Given the description of an element on the screen output the (x, y) to click on. 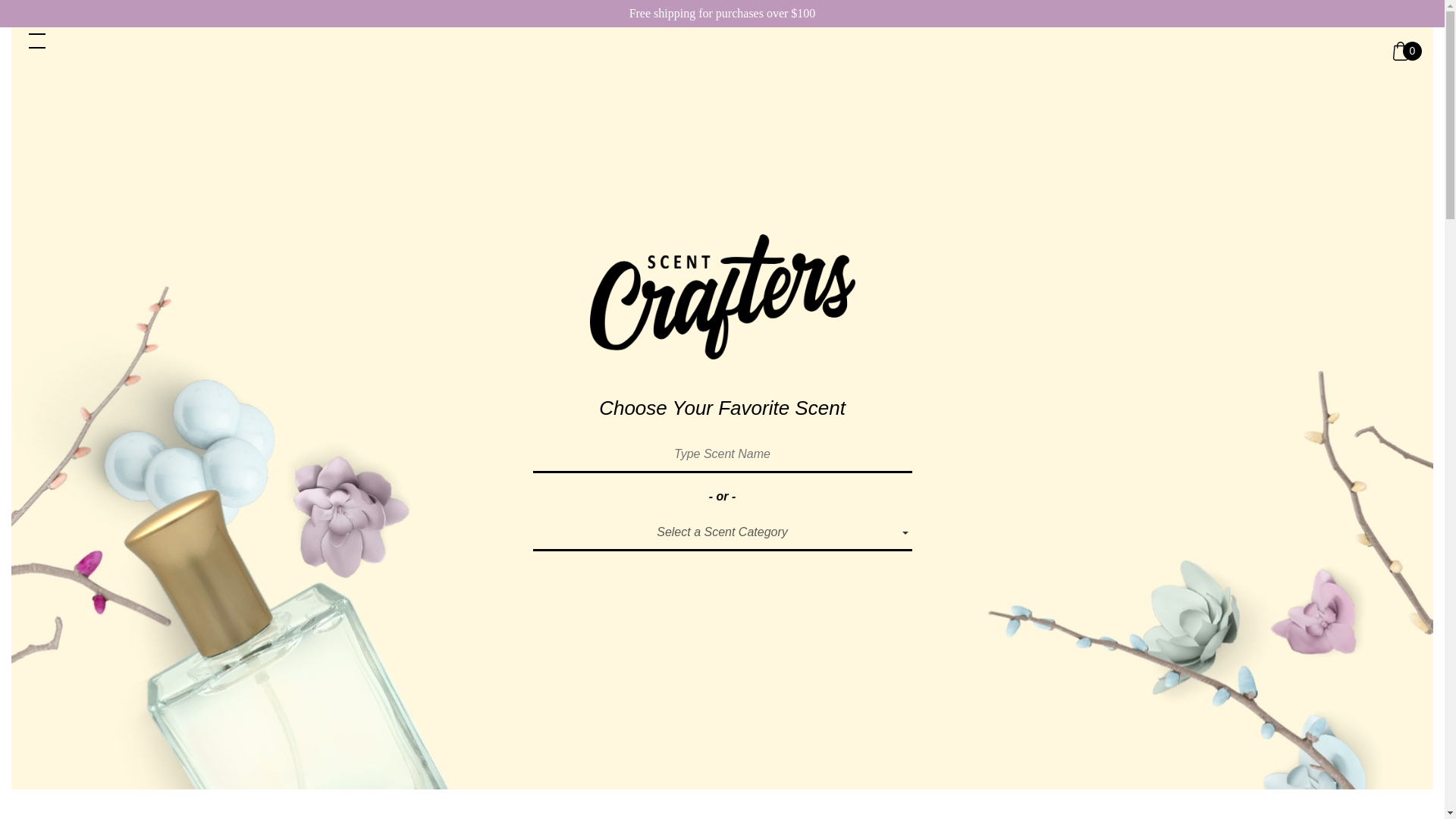
0 (1407, 50)
Select a Scent Category (721, 533)
